Given the description of an element on the screen output the (x, y) to click on. 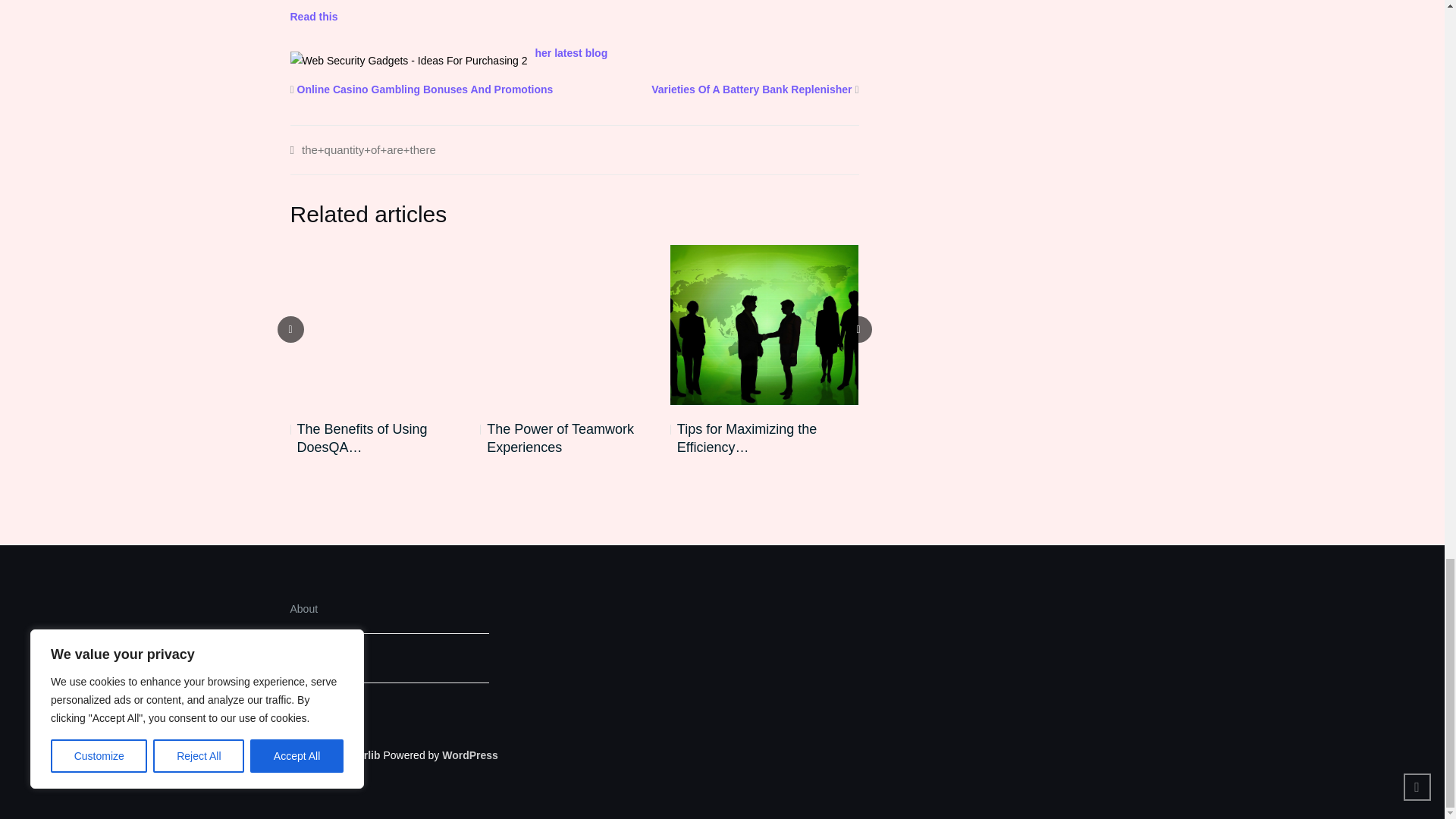
Read this (313, 15)
WordPress.org (469, 755)
Online Casino Gambling Bonuses And Promotions (425, 88)
her latest blog (571, 51)
Varieties Of A Battery Bank Replenisher (750, 88)
The Power of Teamwork Experiences (574, 438)
Colorlib (360, 755)
